Given the description of an element on the screen output the (x, y) to click on. 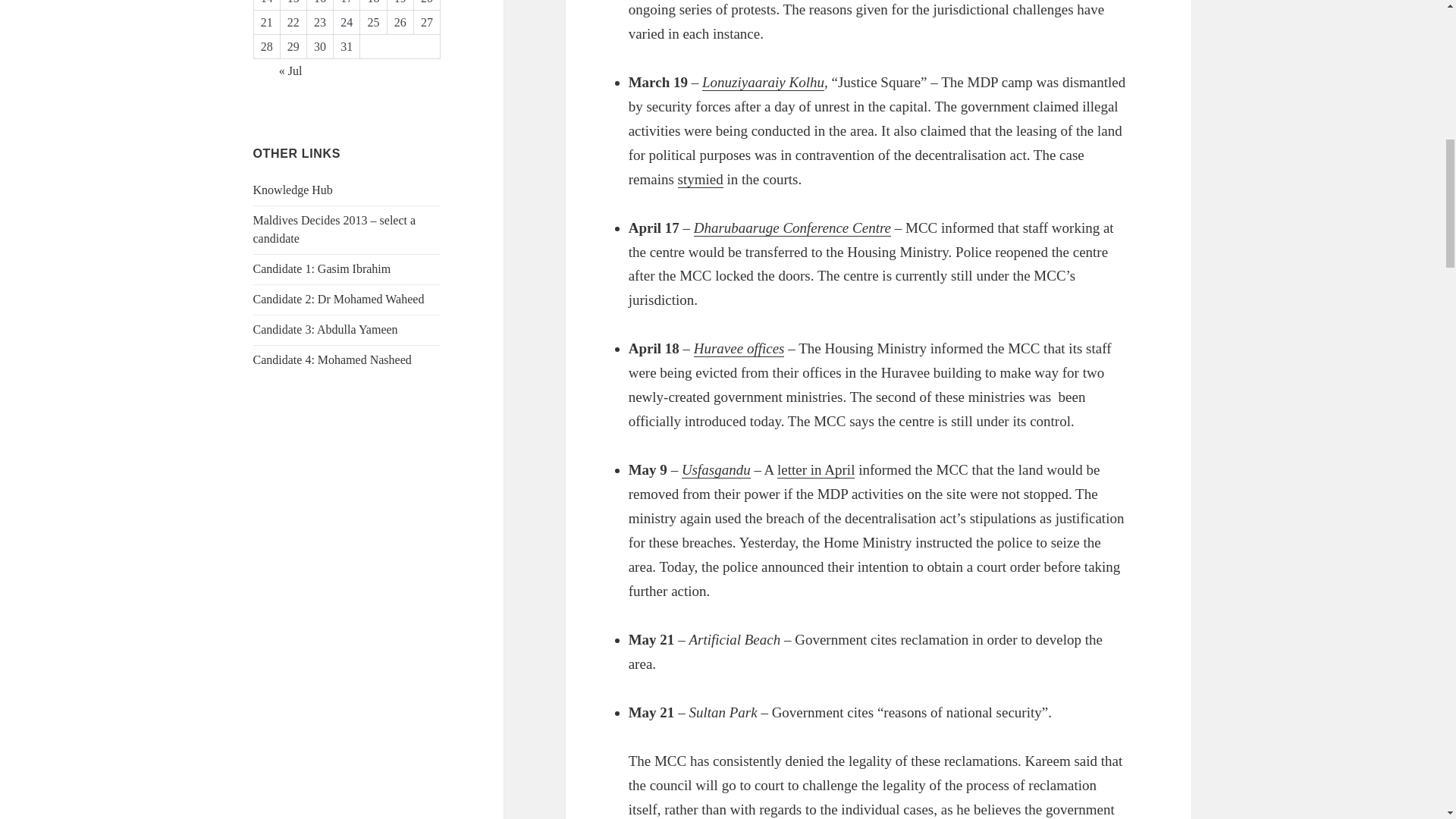
Dharubaaruge Conference Centre (792, 228)
Lonuziyaaraiy Kolhu (762, 82)
letter in April (815, 469)
Knowledge Hub (293, 189)
Usfasgandu (716, 469)
Candidate 2: Dr Mohamed Waheed (339, 298)
stymied (700, 179)
Candidate 3: Abdulla Yameen (325, 328)
Huravee offices (739, 348)
Candidate 1: Gasim Ibrahim (322, 268)
Candidate 4: Mohamed Nasheed (332, 359)
